Given the description of an element on the screen output the (x, y) to click on. 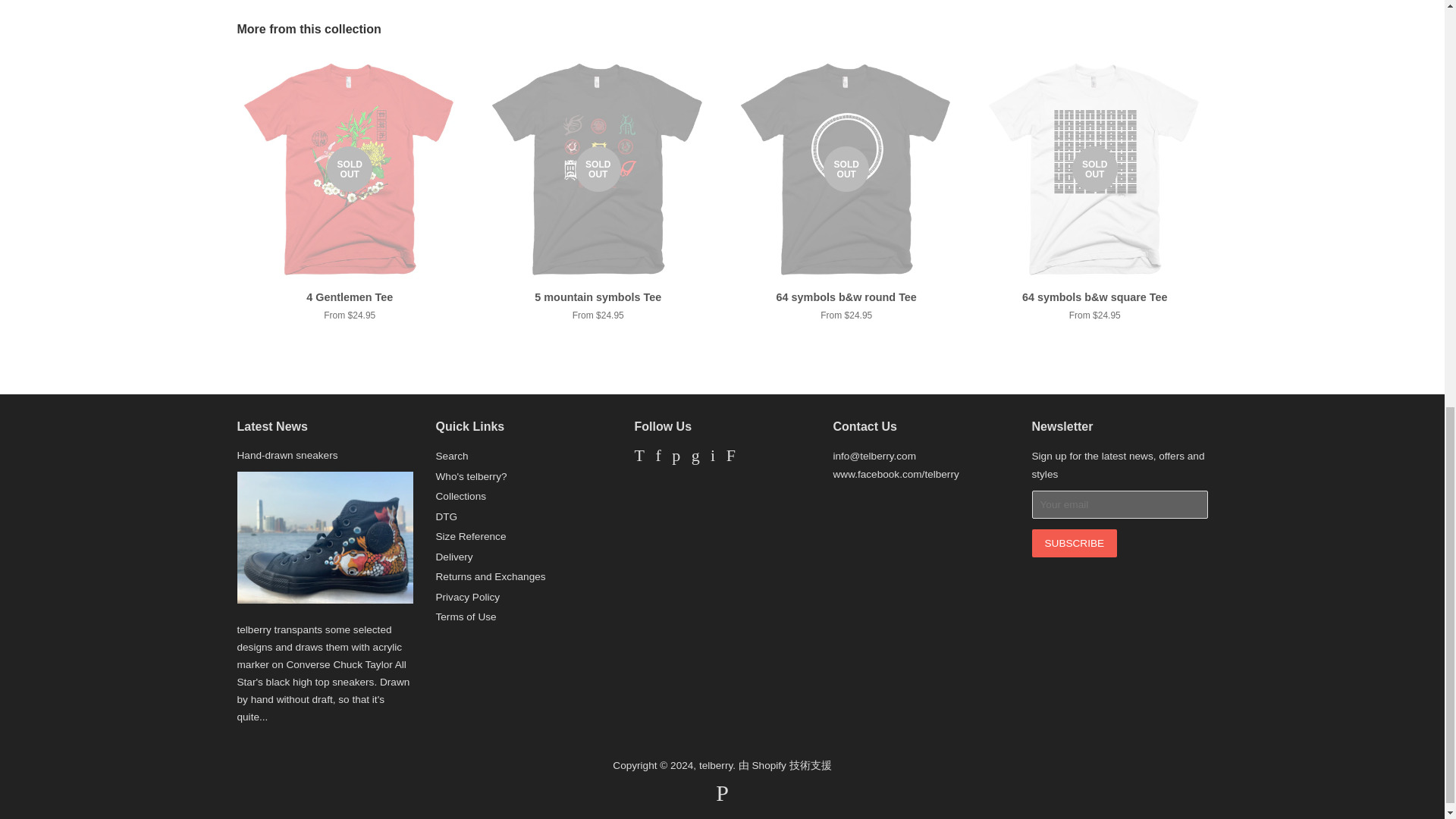
telberry on Instagram (712, 457)
telberry on Fancy (730, 457)
Who's telberry? (470, 476)
Latest News (271, 426)
Subscribe (1073, 543)
Collections (460, 496)
telberry on Pinterest (675, 457)
Hand-drawn sneakers (286, 455)
telberry on Twitter (638, 457)
Search (451, 455)
telberry on Facebook (658, 457)
telberry on Google Plus (695, 457)
